Given the description of an element on the screen output the (x, y) to click on. 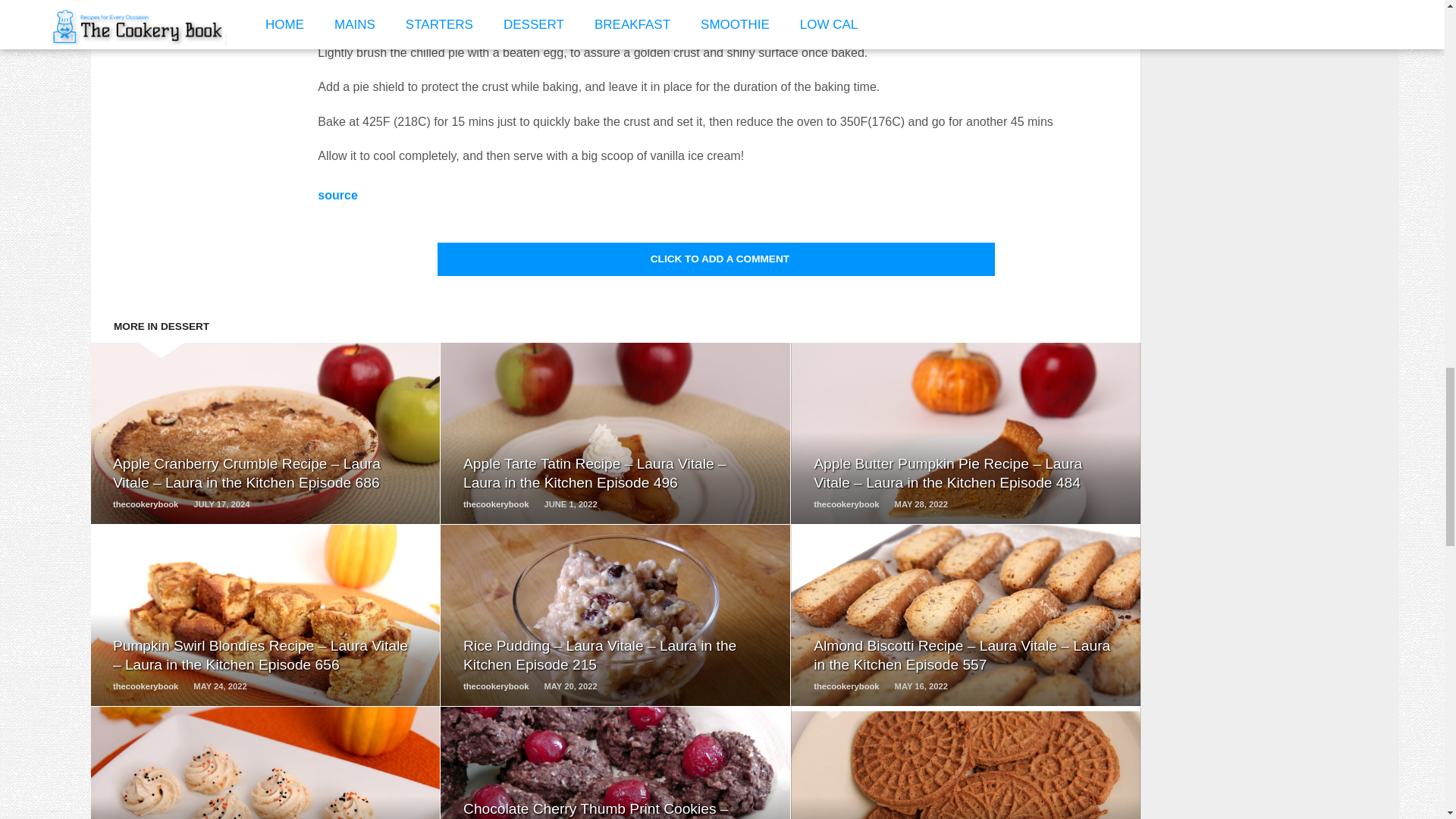
source (336, 195)
